Given the description of an element on the screen output the (x, y) to click on. 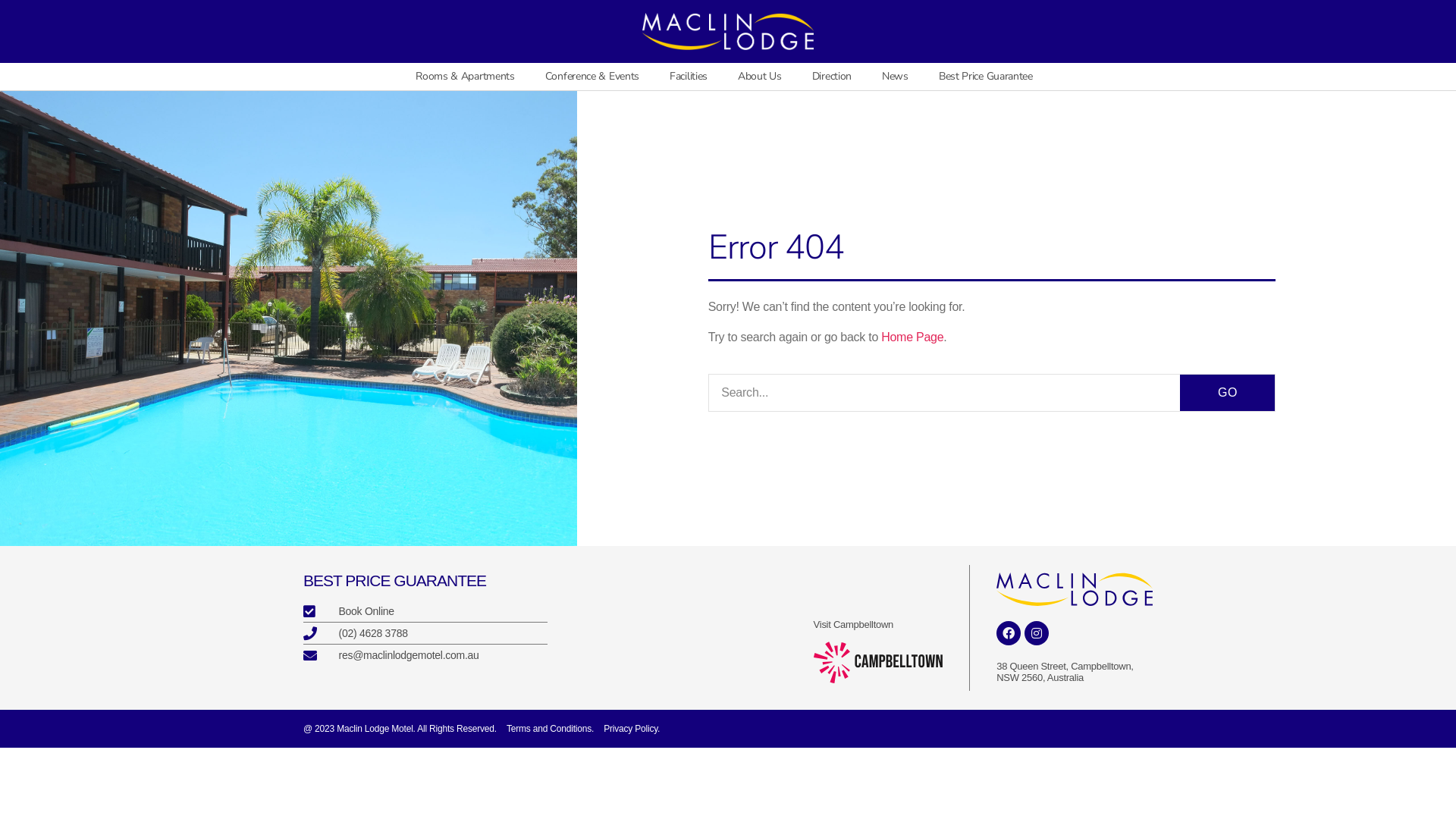
Conference & Events Element type: text (592, 76)
GO Element type: text (1226, 392)
Home Page Element type: text (912, 336)
Book Online Element type: text (425, 611)
About Us Element type: text (759, 76)
Direction Element type: text (831, 76)
res@maclinlodgemotel.com.au Element type: text (425, 655)
News Element type: text (894, 76)
Rooms & Apartments Element type: text (465, 76)
Facilities Element type: text (688, 76)
Best Price Guarantee Element type: text (989, 76)
Privacy Policy. Element type: text (631, 728)
Terms and Conditions. Element type: text (549, 728)
(02) 4628 3788 Element type: text (425, 633)
